Given the description of an element on the screen output the (x, y) to click on. 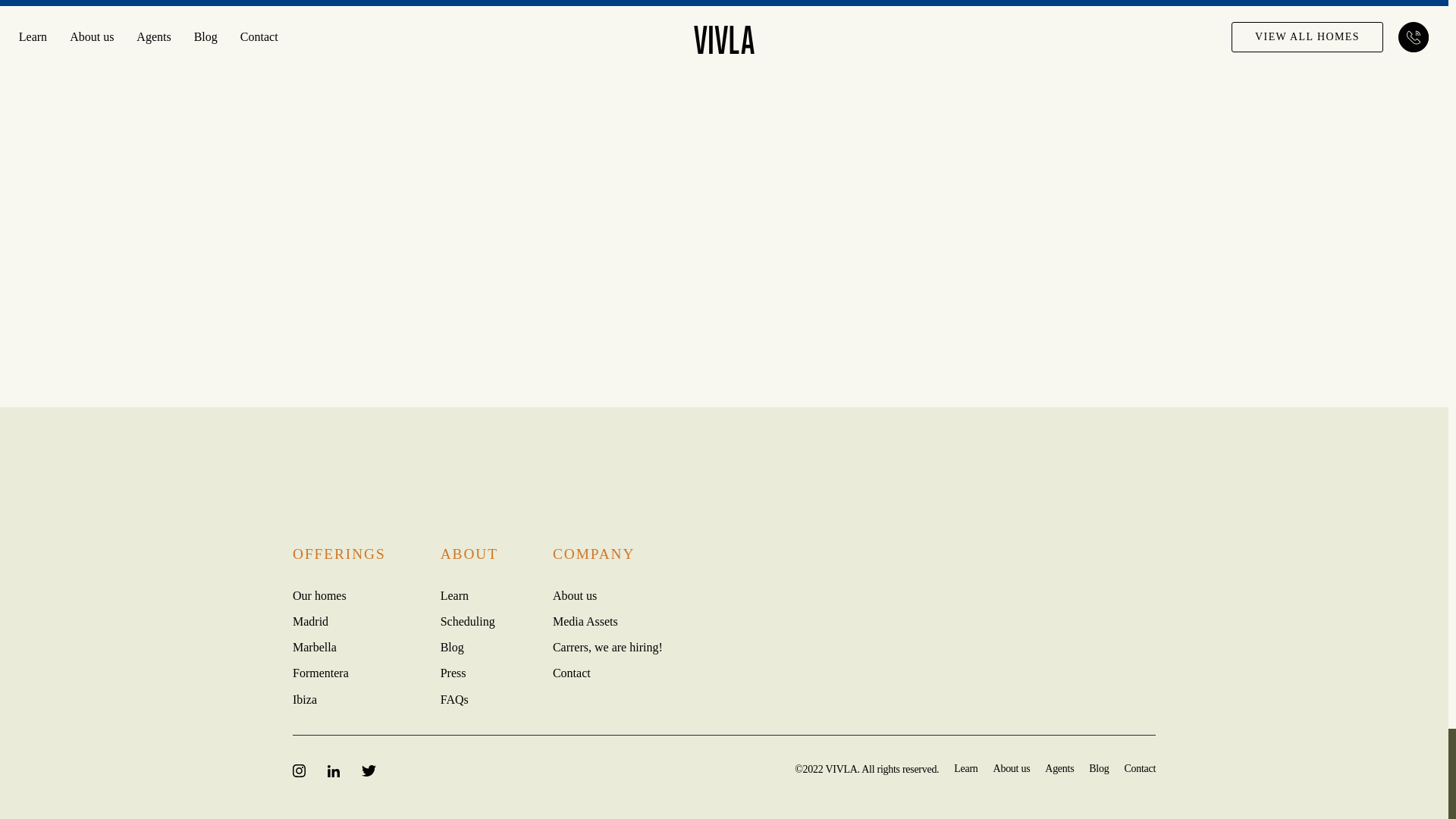
Learn (454, 594)
Contact (572, 672)
FAQs (454, 698)
Press (453, 672)
Marbella (314, 646)
Blog (452, 646)
Scheduling (468, 621)
About us (574, 594)
Media Assets (585, 621)
Our homes (319, 594)
